Given the description of an element on the screen output the (x, y) to click on. 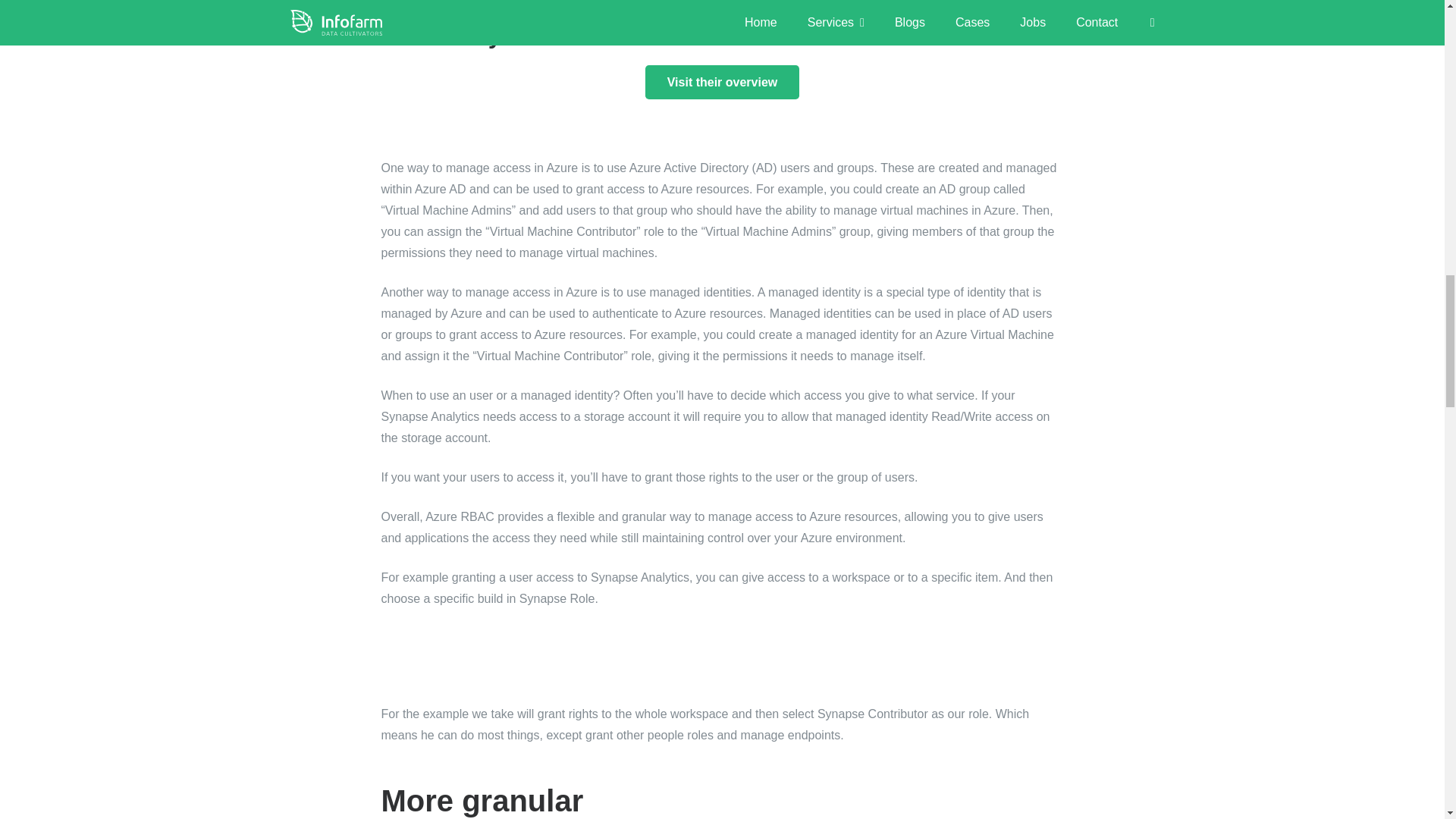
Visit their overview (722, 82)
